Given the description of an element on the screen output the (x, y) to click on. 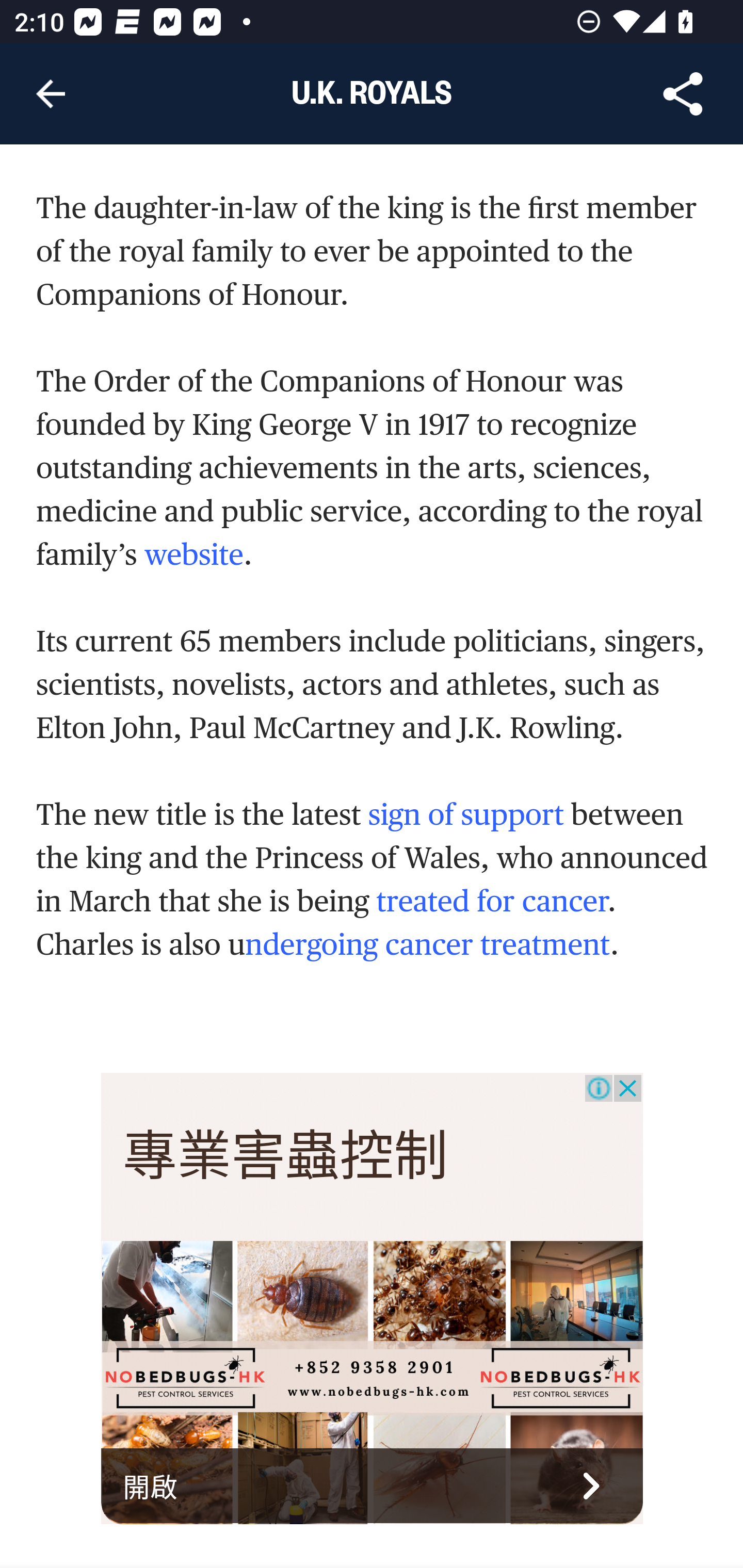
Navigate up (50, 93)
Share Article, button (683, 94)
website (193, 554)
sign of support (465, 814)
treated for cancer (491, 900)
ndergoing cancer treatment (426, 943)
專業害蟲控制 (285, 1156)
開啟 (372, 1485)
